Given the description of an element on the screen output the (x, y) to click on. 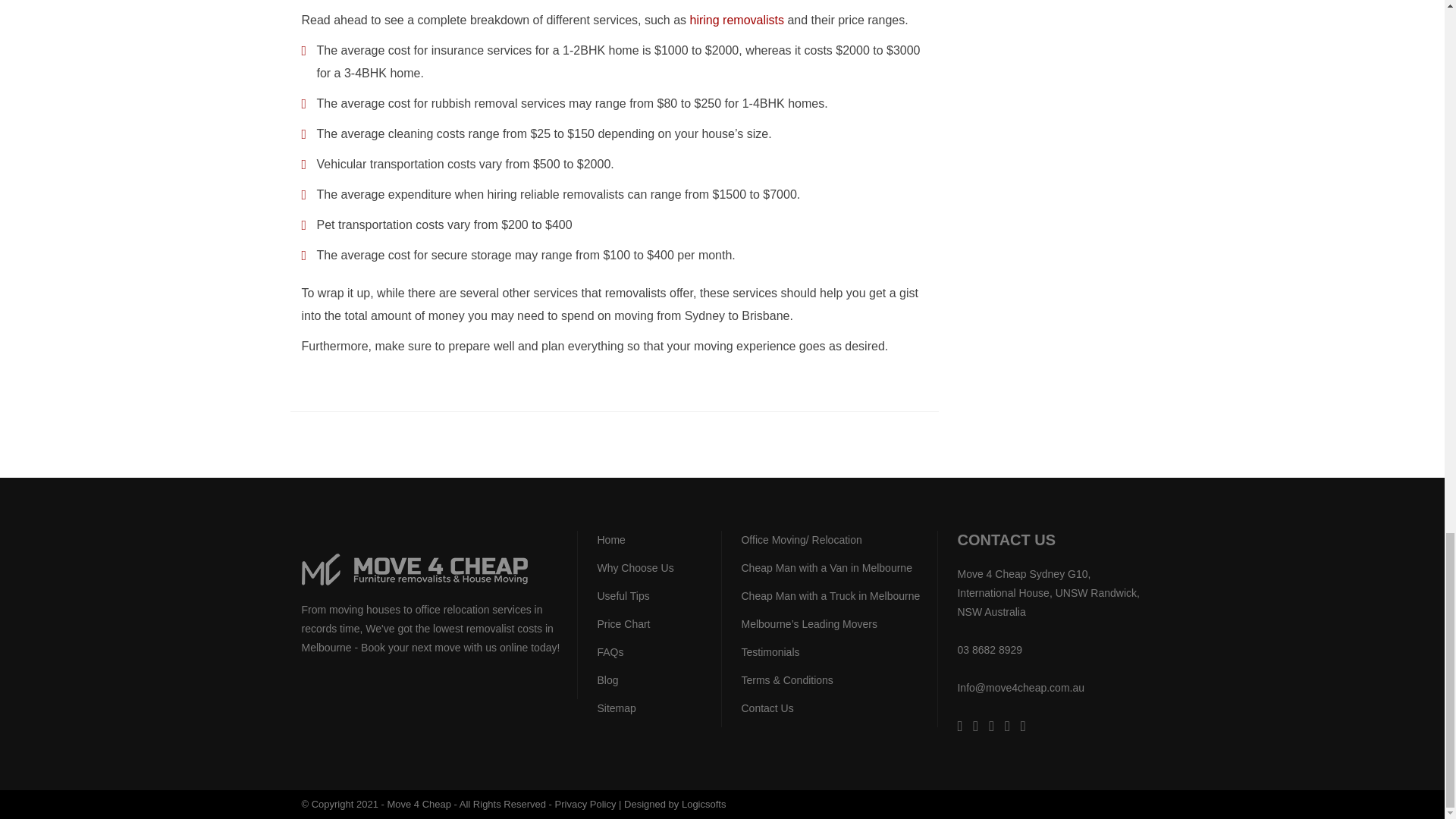
hiring removalists (737, 19)
